Given the description of an element on the screen output the (x, y) to click on. 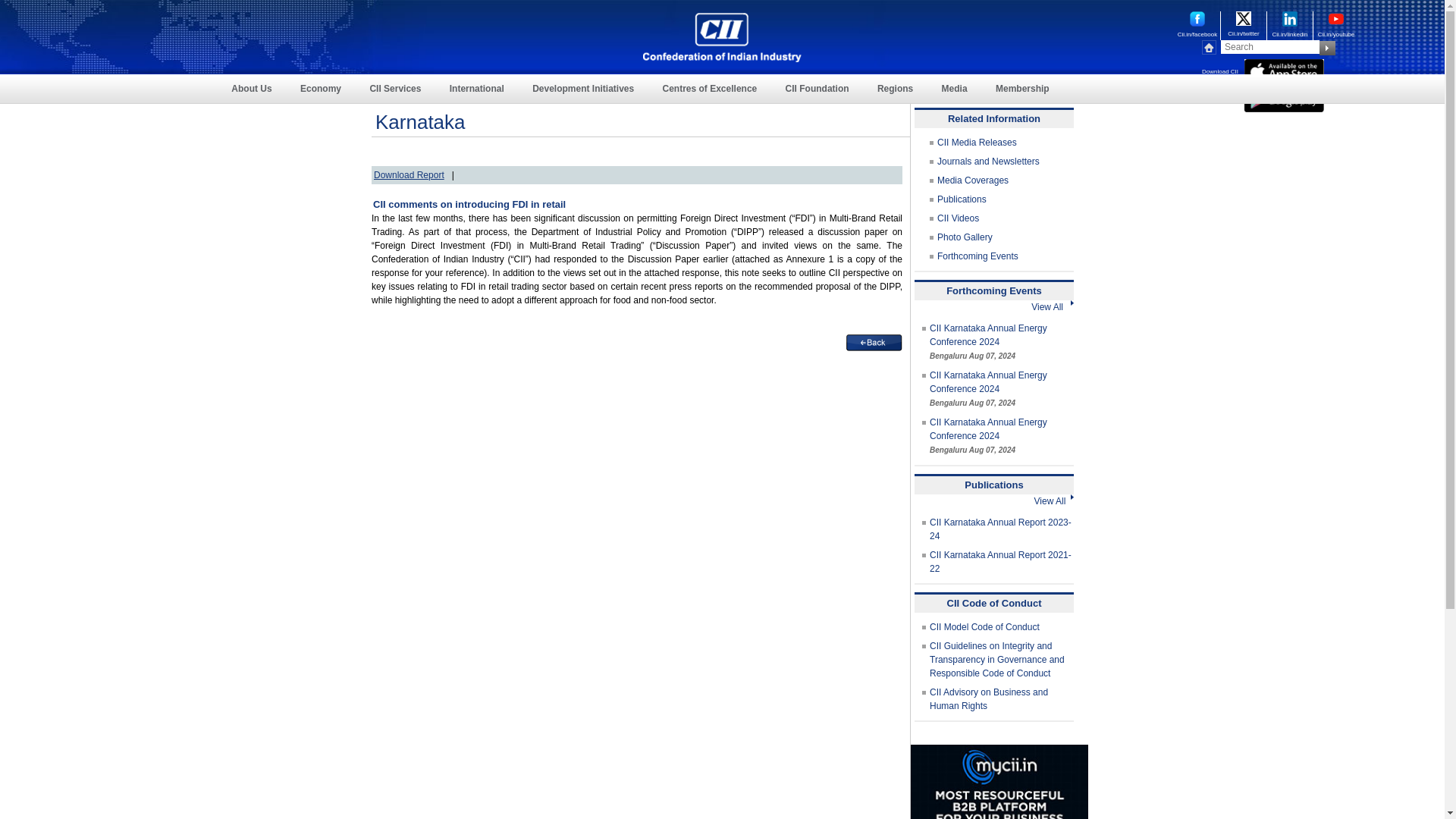
About Us (250, 88)
mycii.in (999, 781)
Google Play (1283, 98)
youtube (1335, 18)
App Store (1283, 71)
Home (722, 37)
linkedin (1289, 18)
twitter (1243, 18)
Economy (320, 88)
Home (1211, 47)
